Given the description of an element on the screen output the (x, y) to click on. 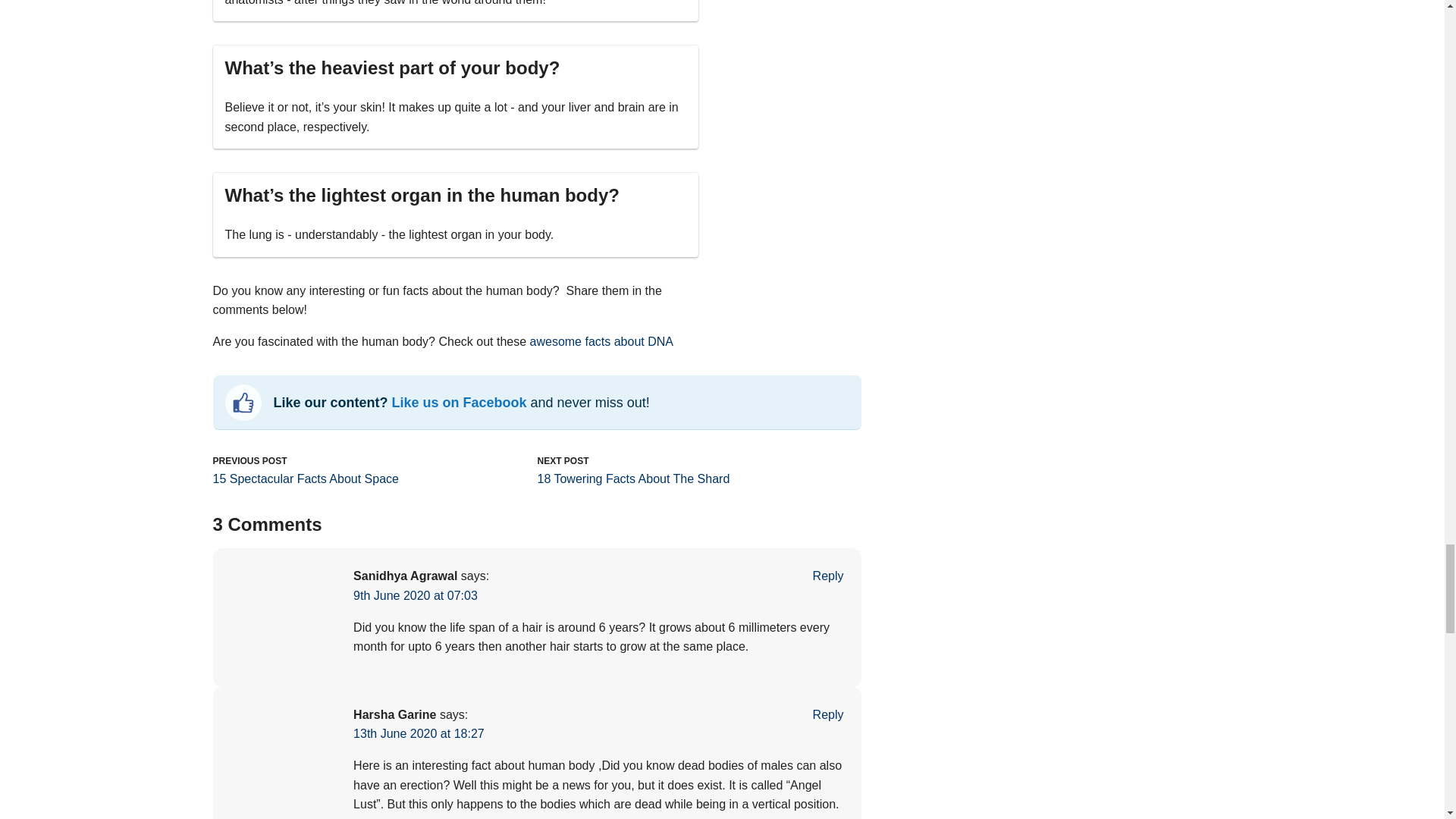
Like us on Facebook (459, 402)
Reply (828, 714)
13th June 2020 at 18:27 (418, 733)
Reply (828, 575)
awesome facts about DNA (600, 341)
15 Spectacular Facts About Space (304, 478)
9th June 2020 at 07:03 (415, 594)
18 Towering Facts About The Shard (633, 478)
